Given the description of an element on the screen output the (x, y) to click on. 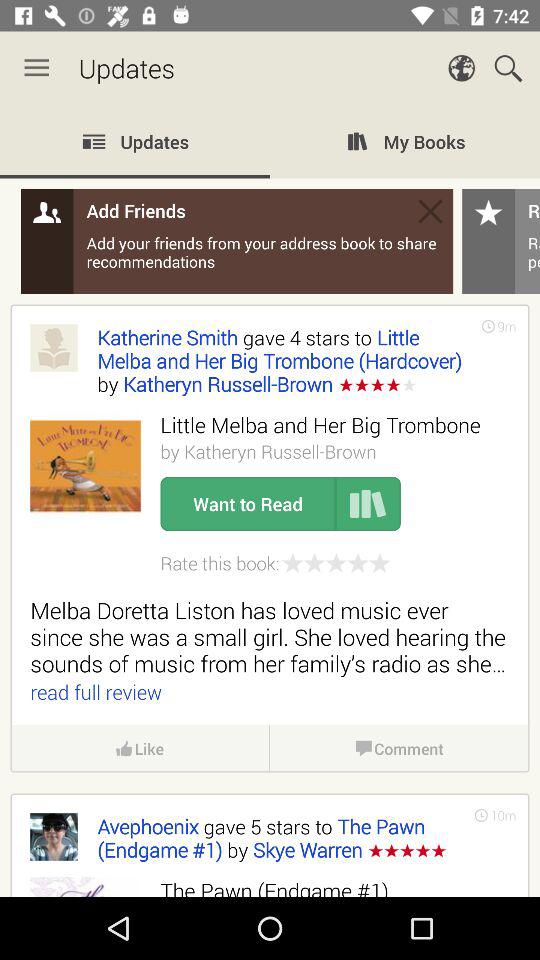
select the avephoenix gave 5 icon (275, 838)
